Given the description of an element on the screen output the (x, y) to click on. 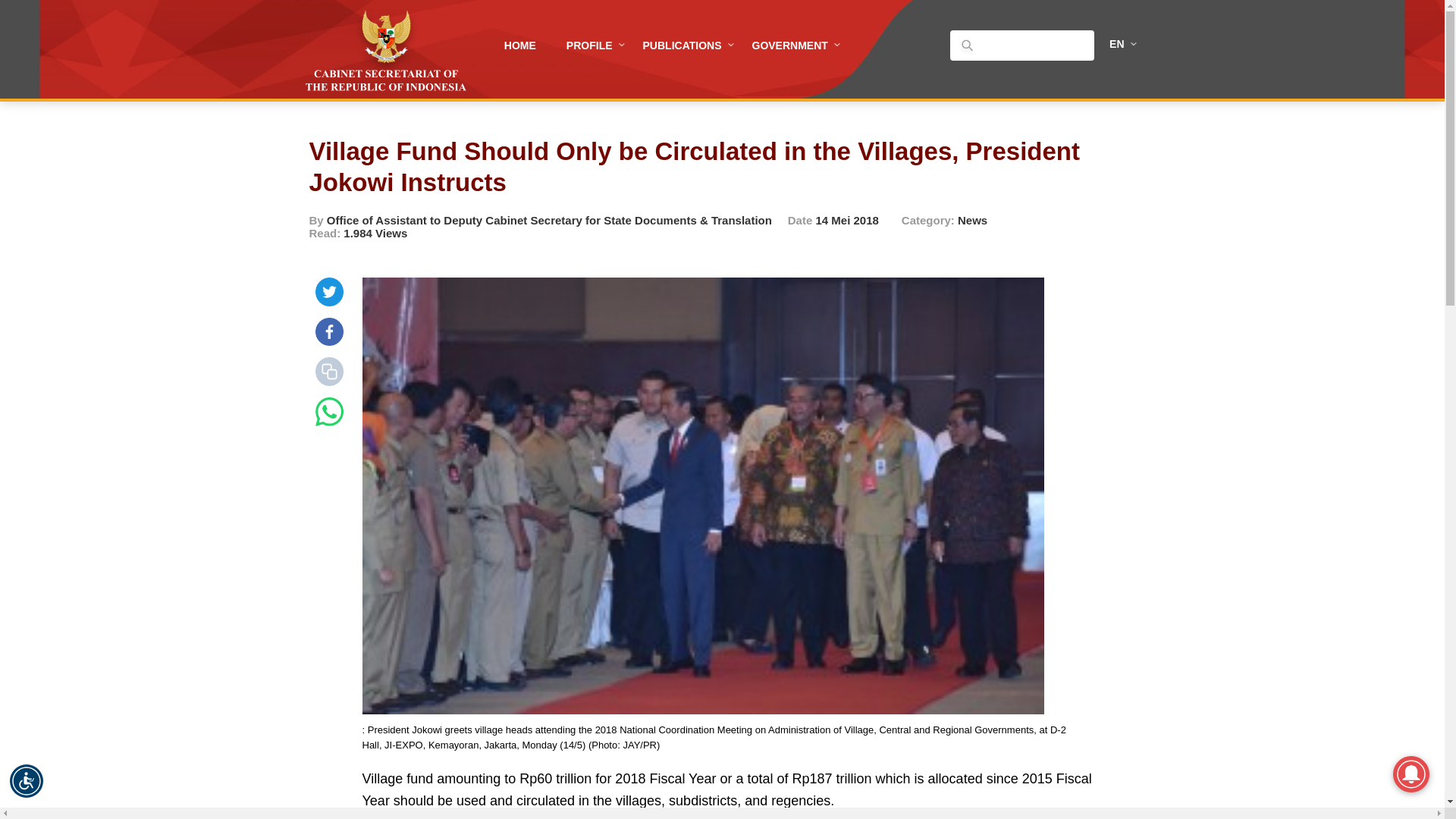
HOME (520, 45)
Accessibility Menu (26, 780)
